Given the description of an element on the screen output the (x, y) to click on. 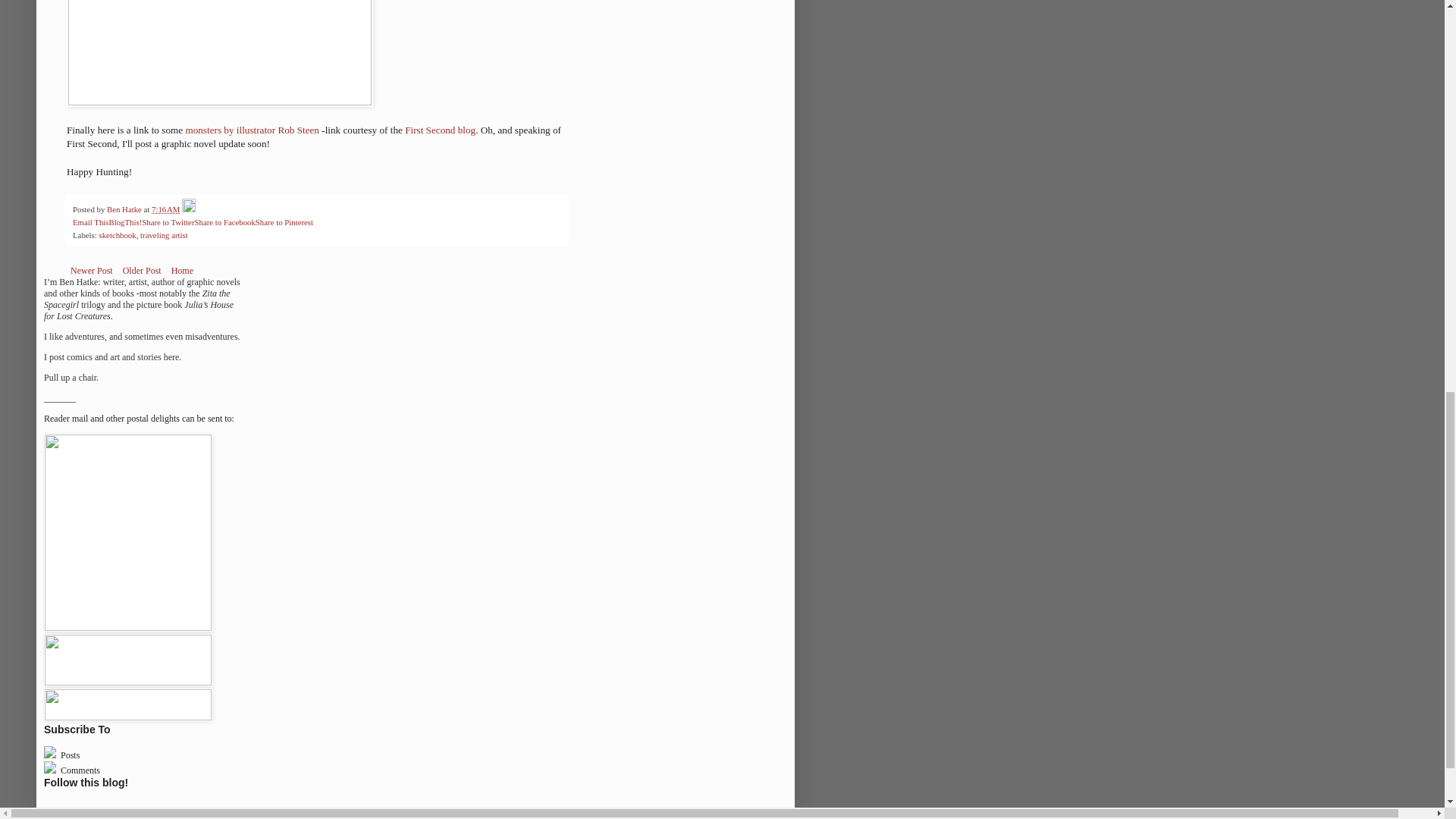
Share to Facebook (223, 221)
traveling artist (163, 234)
Older Post (142, 270)
monsters by illustrator Rob Steen (251, 129)
Newer Post (91, 270)
Edit Post (188, 208)
Share to Facebook (223, 221)
Older Post (142, 270)
Home (181, 270)
Share to Twitter (167, 221)
Email This (89, 221)
Share to Pinterest (284, 221)
Share to Twitter (167, 221)
Ben Hatke (125, 208)
